Given the description of an element on the screen output the (x, y) to click on. 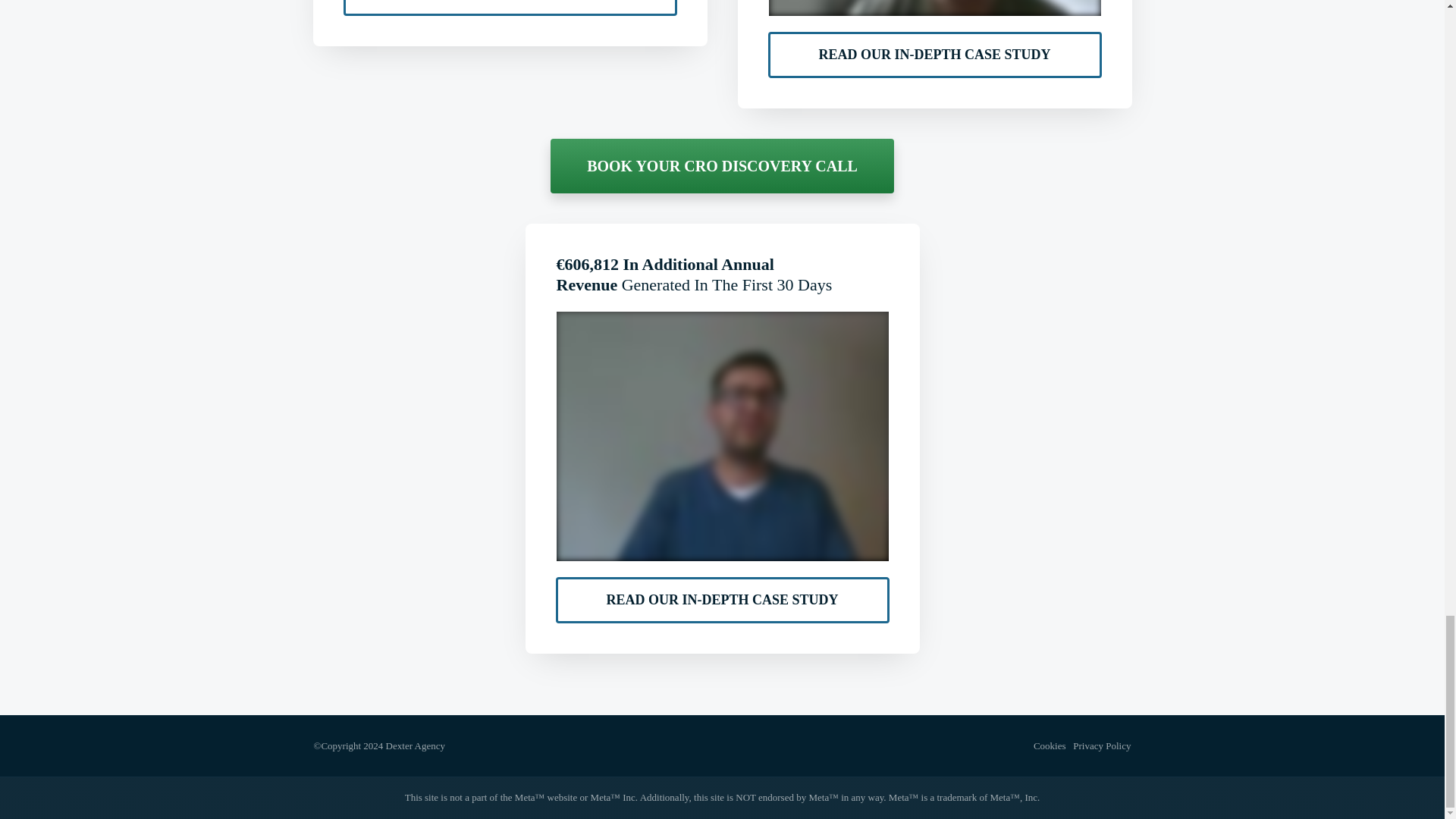
READ OUR IN-DEPTH CASE STUDY (509, 8)
